Given the description of an element on the screen output the (x, y) to click on. 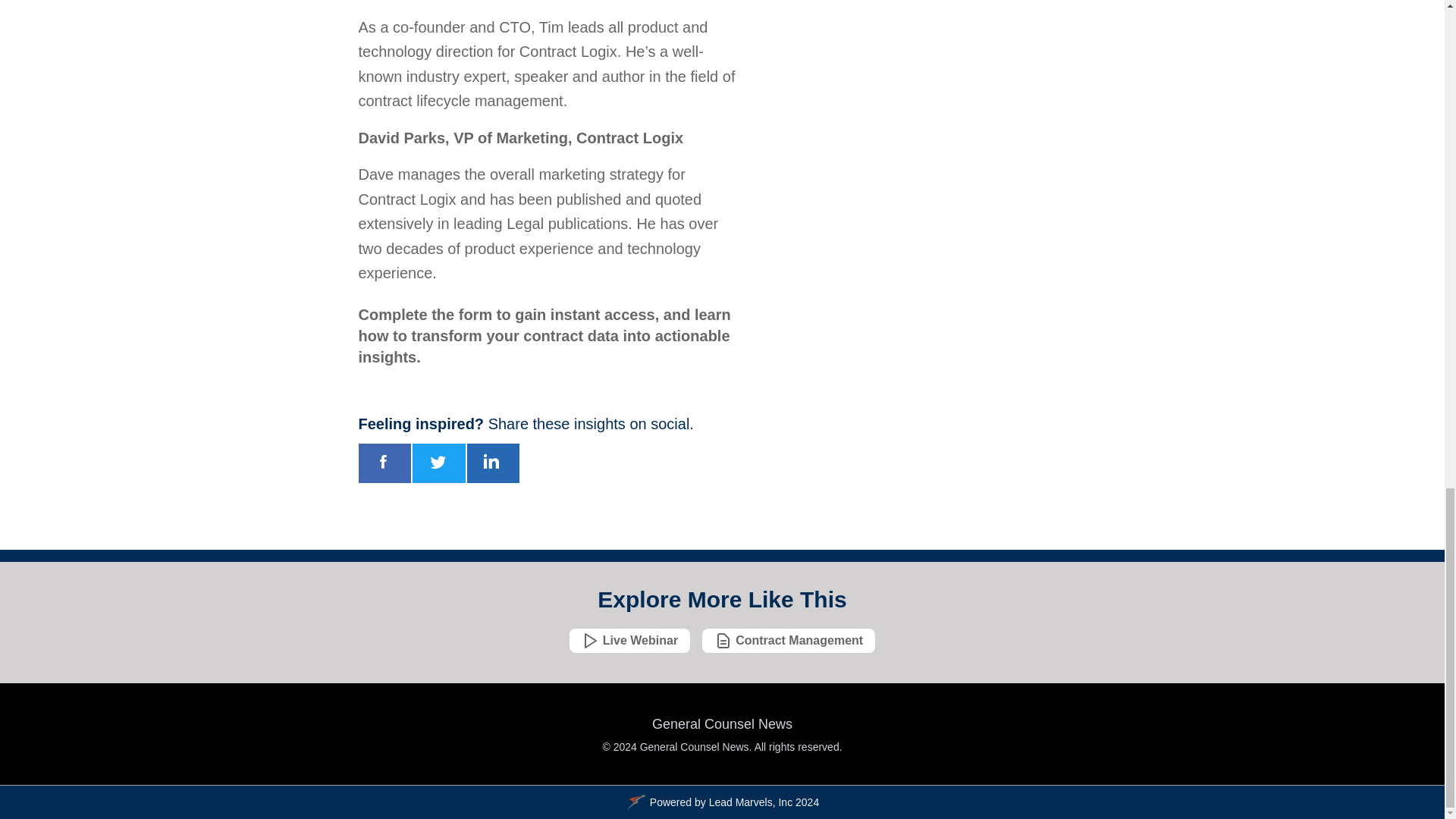
Live Webinar (629, 640)
Lead Marvels, Inc (751, 802)
General Counsel News (721, 726)
Contract Management (787, 640)
